Given the description of an element on the screen output the (x, y) to click on. 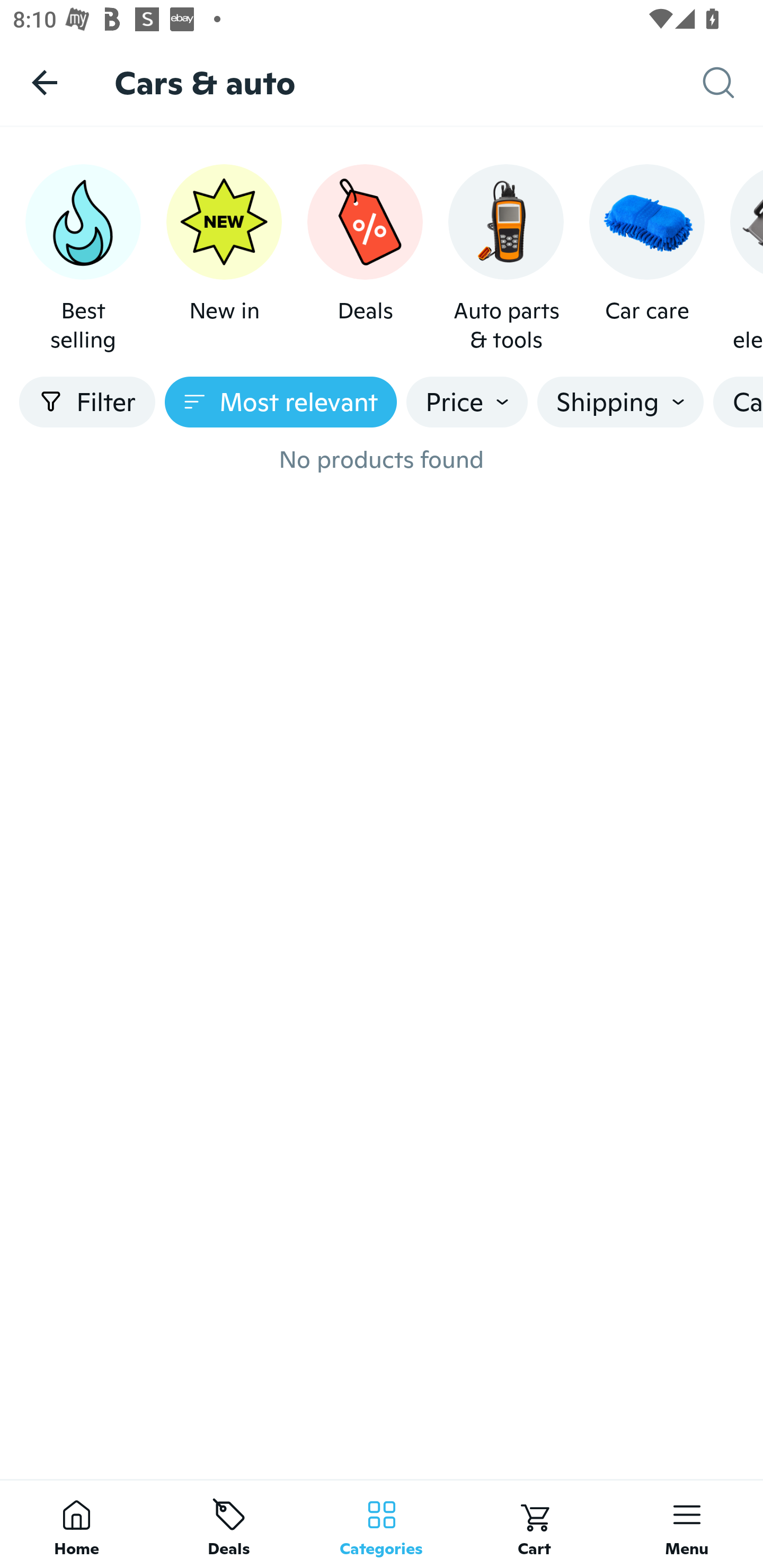
Navigate up (44, 82)
Search (732, 82)
Best selling (83, 259)
New in (223, 259)
Deals (364, 259)
Auto parts & tools (505, 259)
Car care (647, 259)
Filter (86, 402)
Most relevant (280, 402)
Price (466, 402)
Shipping (620, 402)
Home (76, 1523)
Deals (228, 1523)
Categories (381, 1523)
Cart (533, 1523)
Menu (686, 1523)
